Given the description of an element on the screen output the (x, y) to click on. 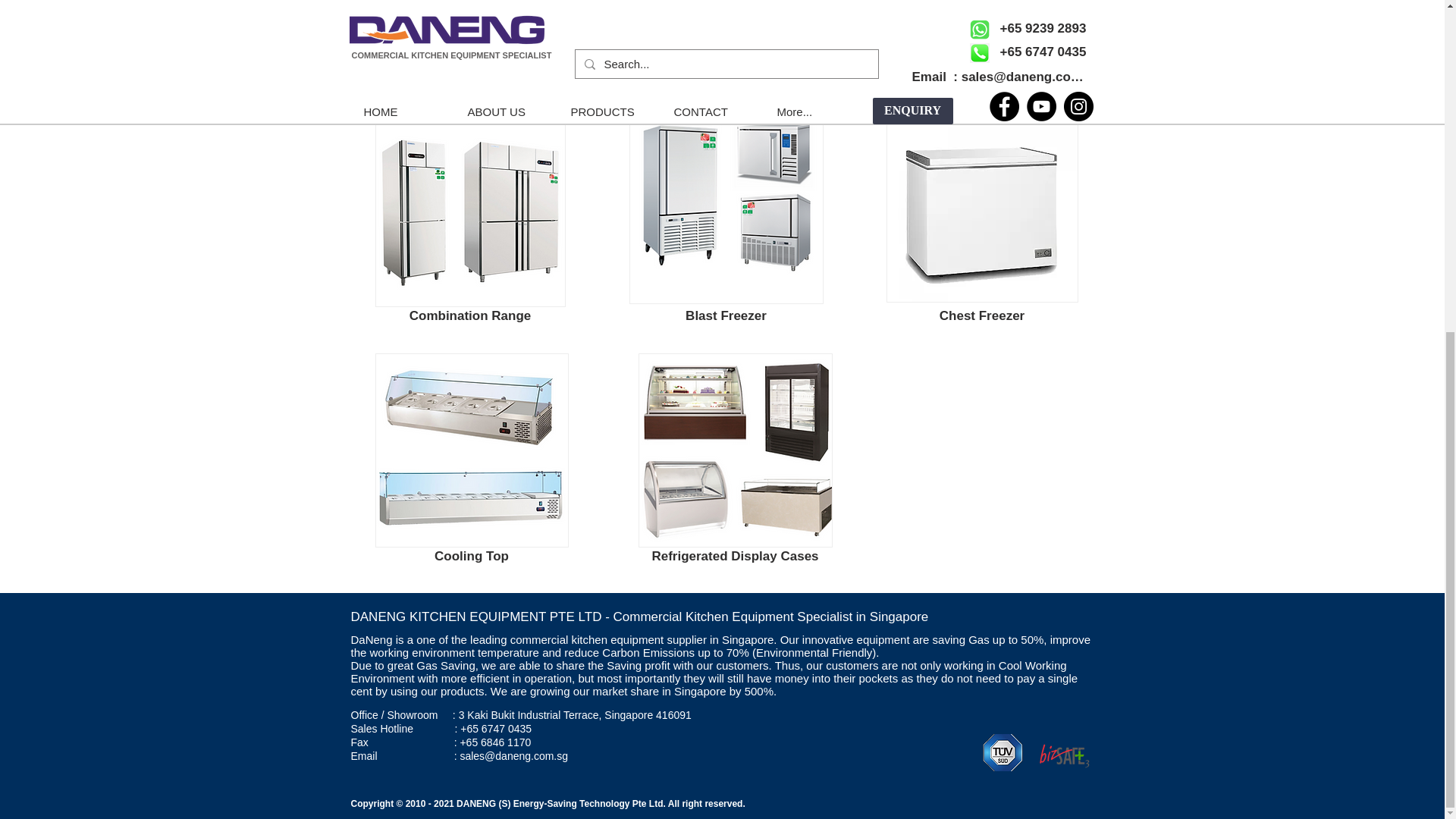
Display Range (980, 36)
Showcase (735, 449)
Counte Range (472, 36)
CoolingTop (470, 449)
Combi Range (469, 210)
Blast Freezer (726, 206)
Upright Range (726, 36)
